Given the description of an element on the screen output the (x, y) to click on. 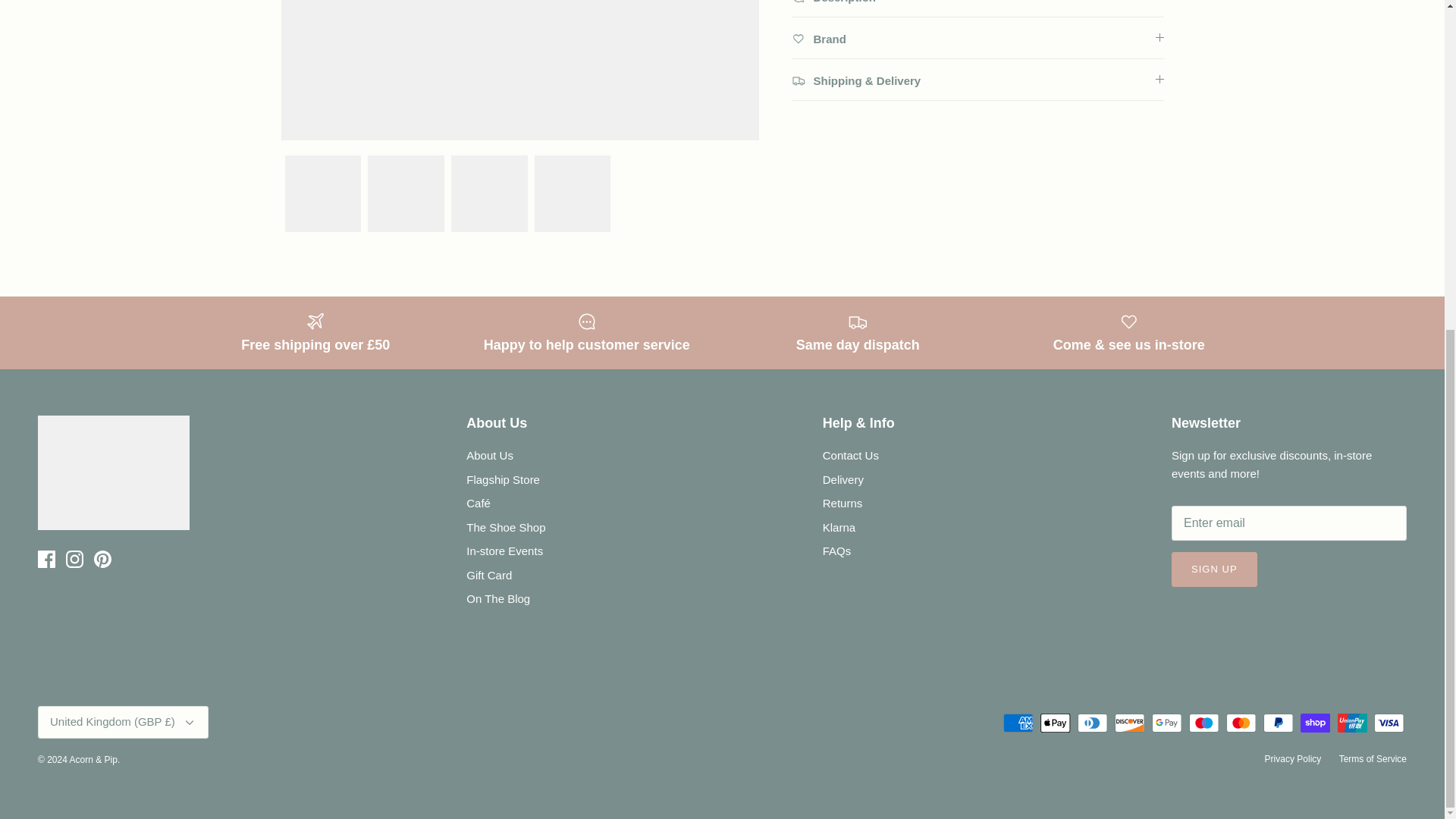
American Express (1018, 722)
Apple Pay (1055, 722)
Facebook (46, 559)
Instagram (73, 559)
Google Pay (1166, 722)
Maestro (1203, 722)
Diners Club (1092, 722)
Discover (1129, 722)
Pinterest (103, 559)
